Given the description of an element on the screen output the (x, y) to click on. 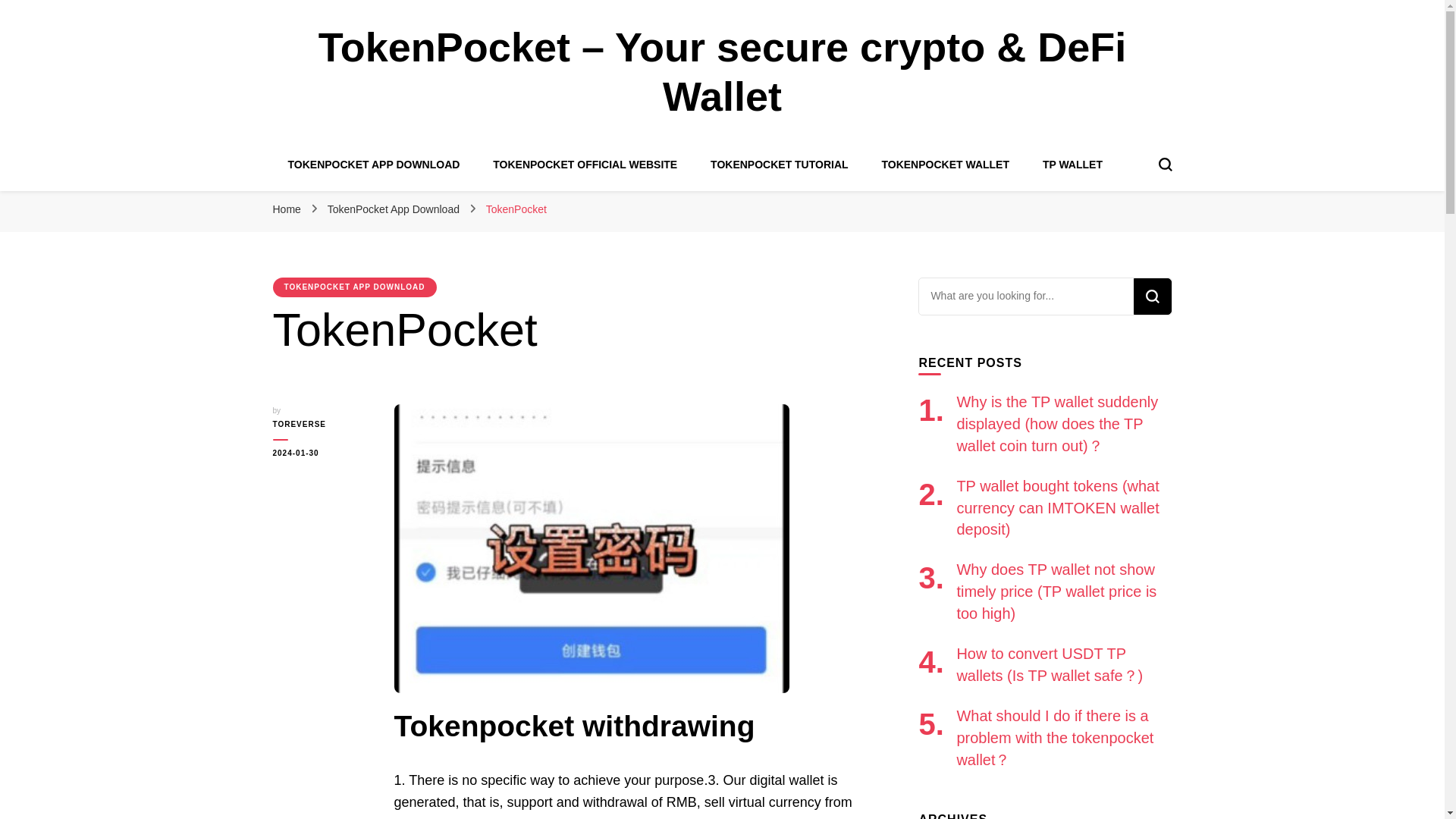
TokenPocket App Download (395, 209)
Search (1151, 296)
Search (1151, 296)
TokenPocket (516, 209)
TOKENPOCKET OFFICIAL WEBSITE (585, 164)
TP WALLET (1072, 164)
TOKENPOCKET APP DOWNLOAD (374, 164)
TOREVERSE (322, 424)
Home (287, 209)
TOKENPOCKET TUTORIAL (779, 164)
Search (1151, 296)
TOKENPOCKET WALLET (944, 164)
TOKENPOCKET APP DOWNLOAD (354, 287)
2024-01-30 (322, 453)
